Given the description of an element on the screen output the (x, y) to click on. 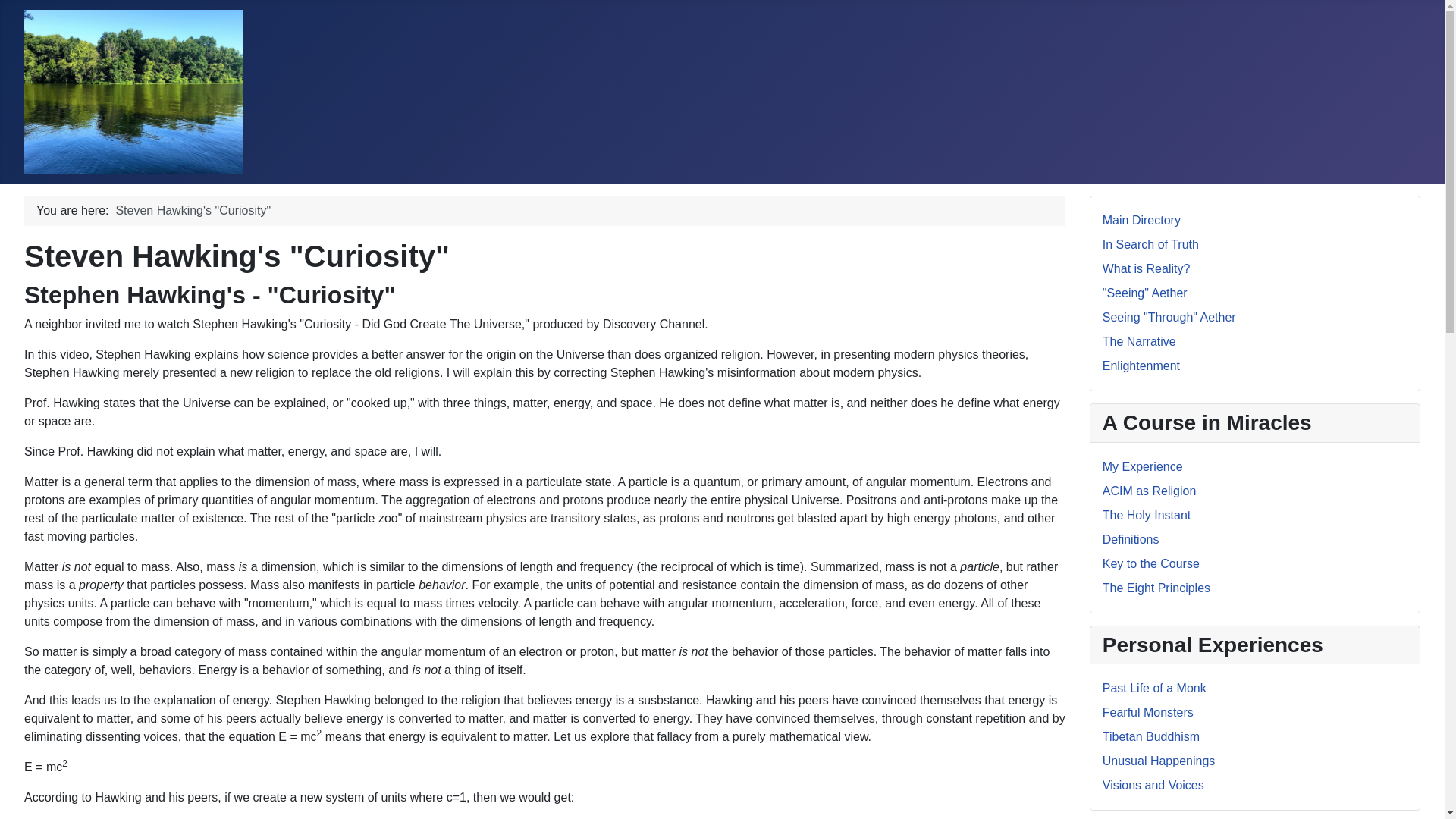
Past Life of a Monk (1154, 687)
Fearful Monsters (1147, 712)
Visions and Voices (1153, 784)
Tibetan Buddhism (1150, 736)
Enlightenment (1140, 365)
ACIM as Religion (1149, 490)
The Eight Principles (1155, 587)
Seeing "Through" Aether (1169, 317)
My Experience (1142, 466)
The Narrative (1139, 341)
